Given the description of an element on the screen output the (x, y) to click on. 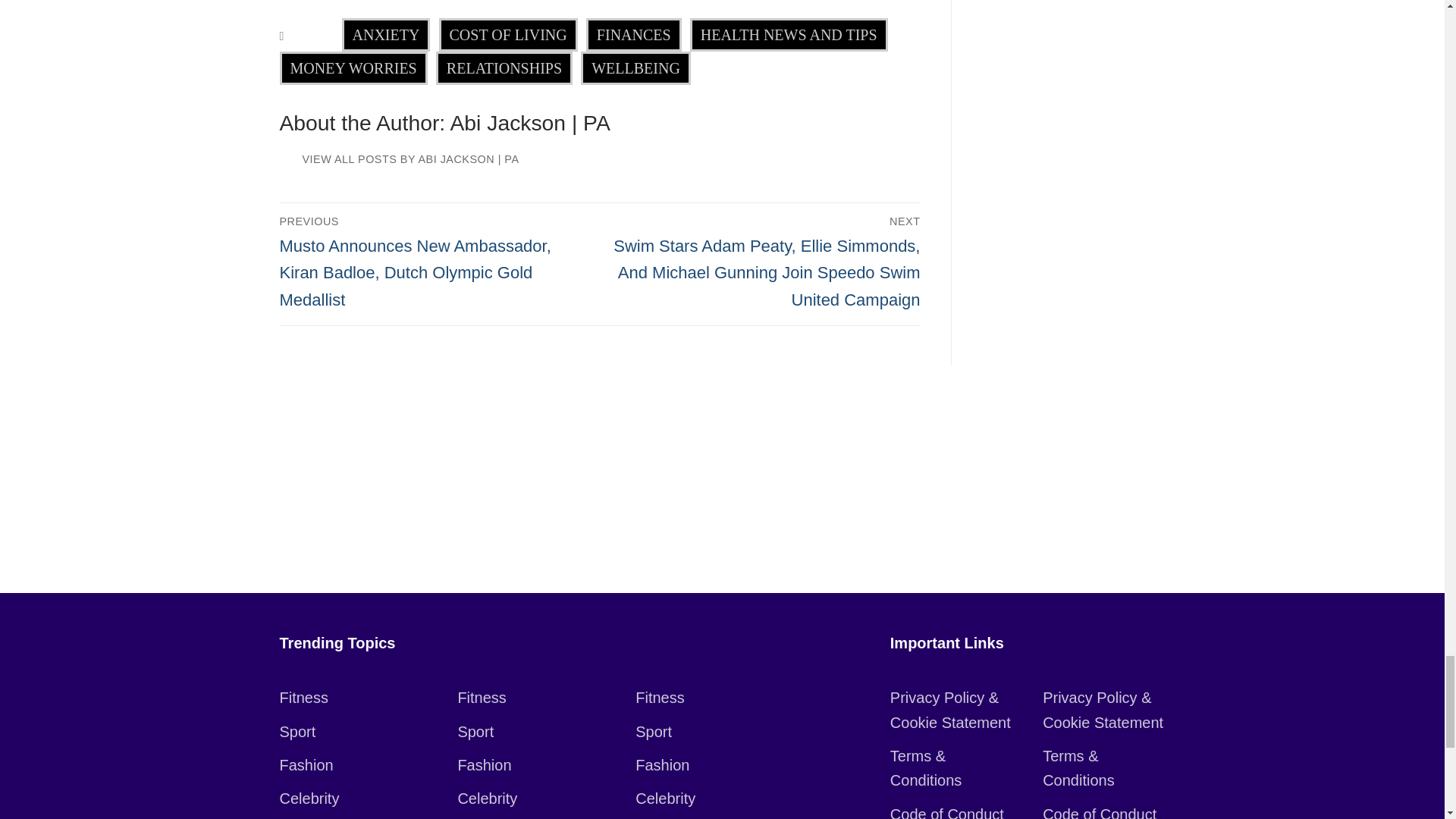
ANXIETY (386, 34)
FINANCES (633, 34)
MONEY WORRIES (352, 68)
RELATIONSHIPS (503, 68)
HEALTH NEWS AND TIPS (789, 34)
COST OF LIVING (508, 34)
